Given the description of an element on the screen output the (x, y) to click on. 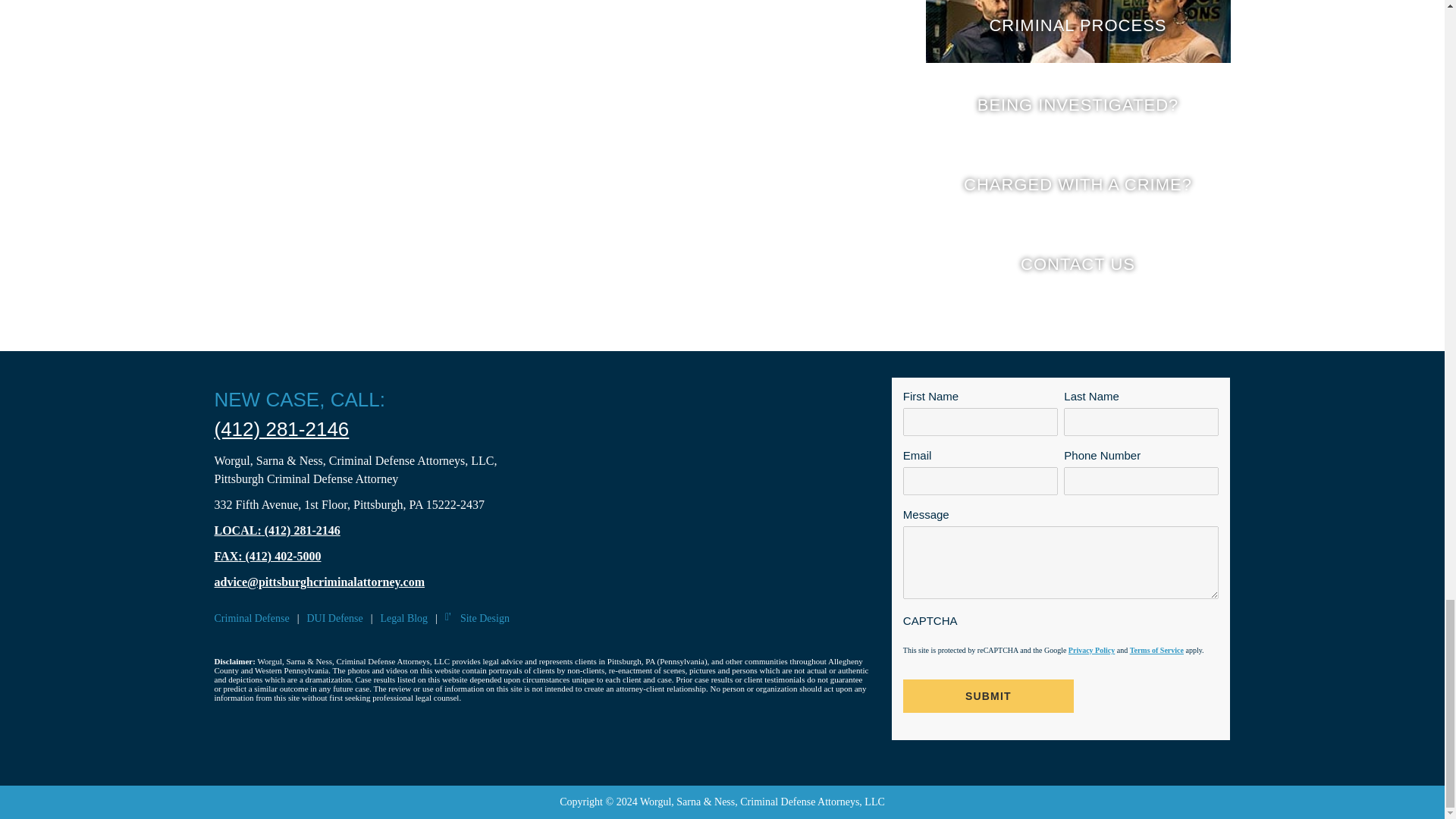
Criminal Process (1077, 31)
Submit (988, 695)
Being Investigated? (1077, 104)
